Given the description of an element on the screen output the (x, y) to click on. 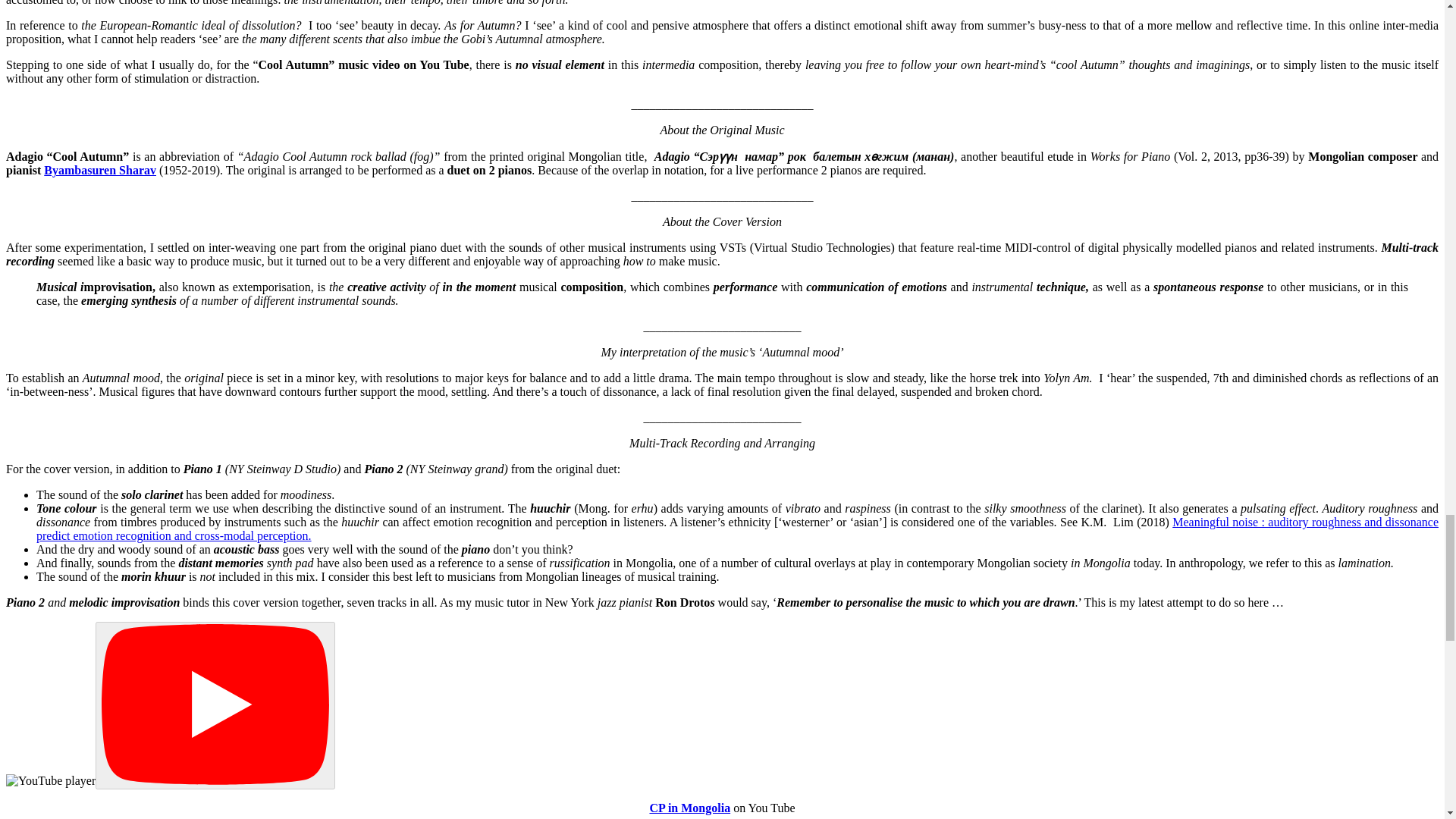
CP in Mongolia (689, 807)
Byambasuren Sharav (99, 169)
